Given the description of an element on the screen output the (x, y) to click on. 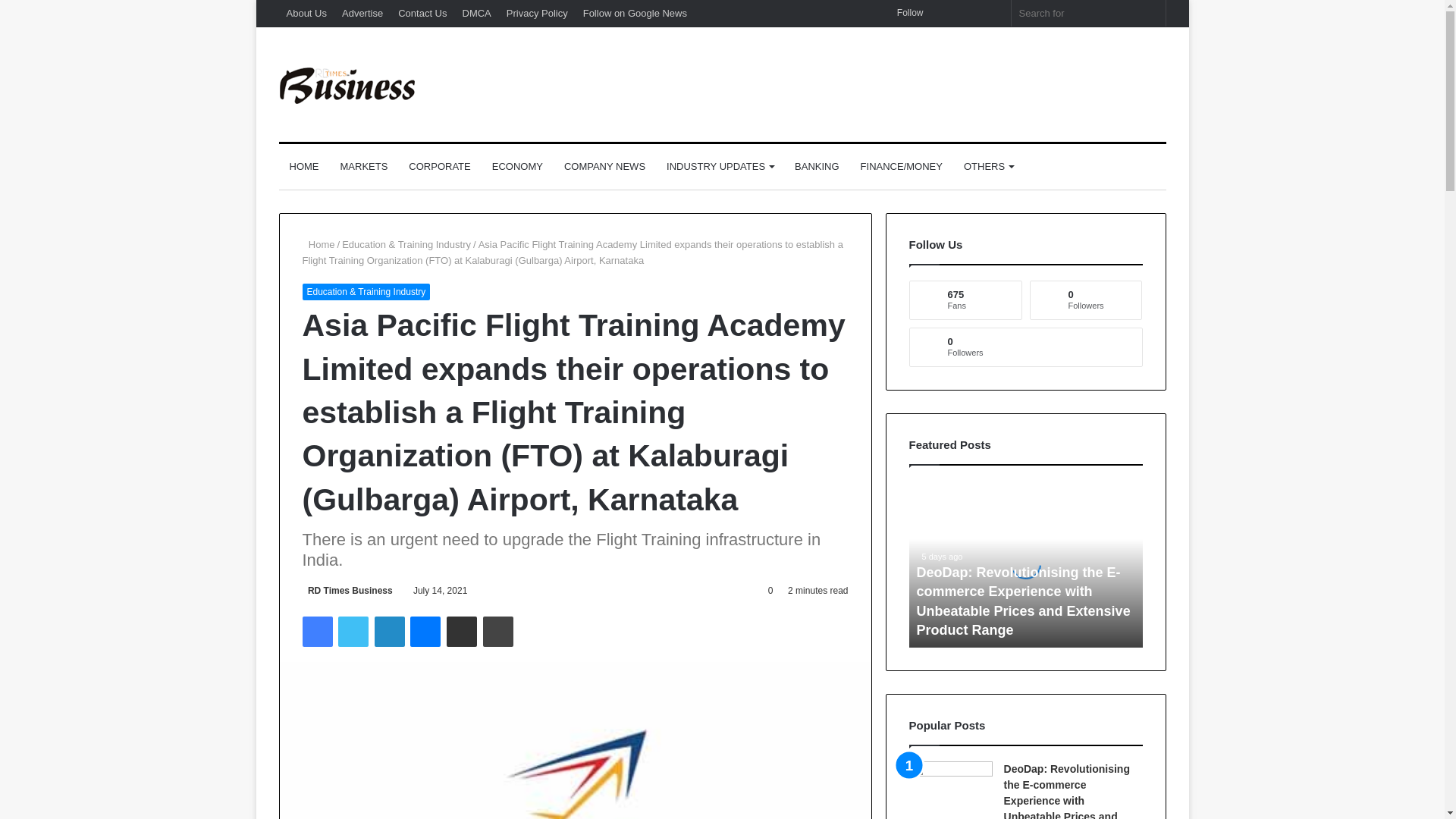
Facebook (316, 631)
CORPORATE (438, 166)
Search for (1088, 13)
HOME (304, 166)
Search for (1149, 13)
Random Article (967, 13)
ECONOMY (517, 166)
Print (498, 631)
Advertise (362, 13)
Follow (905, 13)
Log In (945, 13)
About Us (306, 13)
Share via Email (461, 631)
RD Times Business (347, 84)
Contact Us (422, 13)
